Given the description of an element on the screen output the (x, y) to click on. 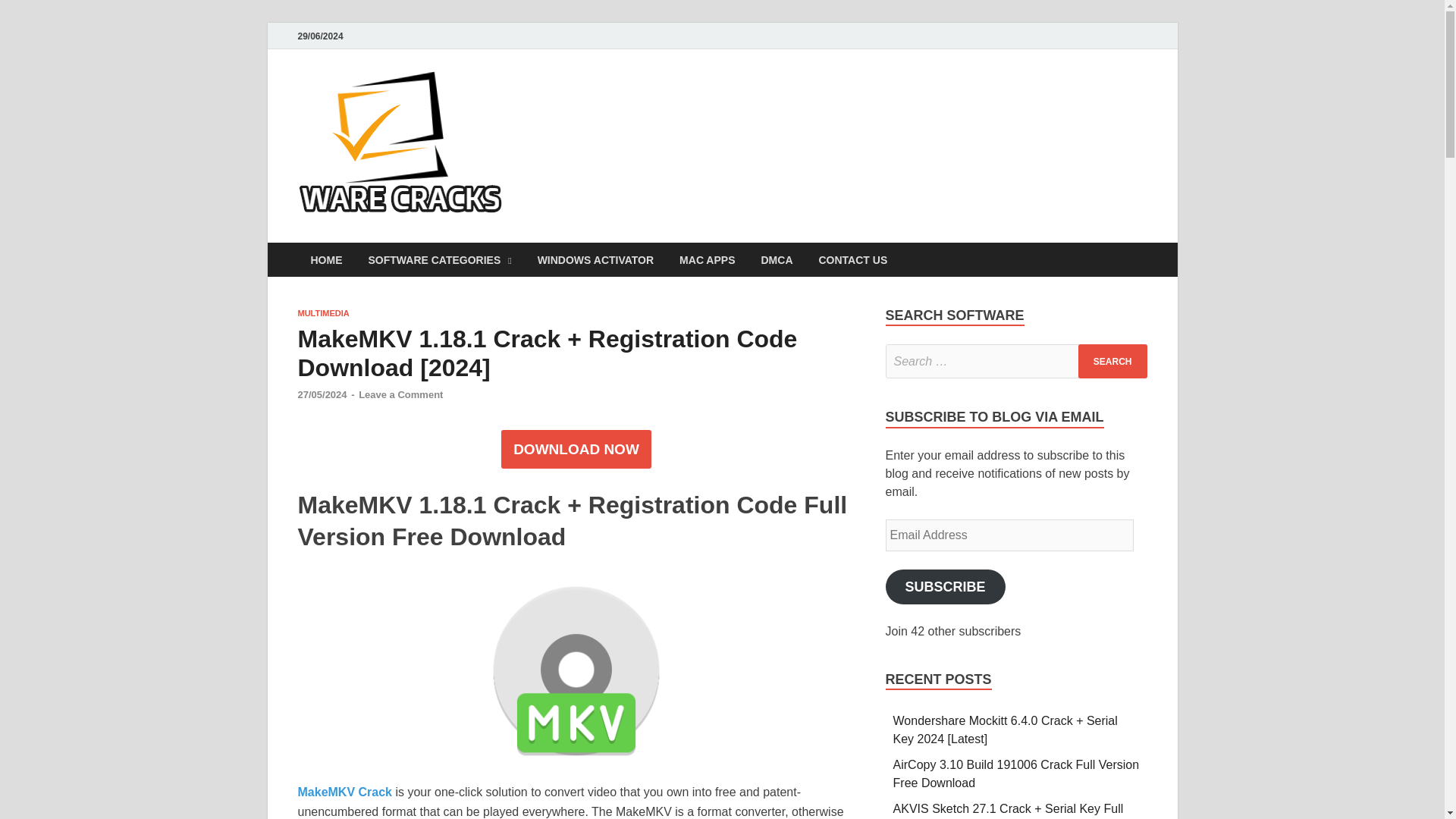
Leave a Comment (400, 394)
HOME (326, 259)
MULTIMEDIA (323, 312)
Search (1112, 360)
CONTACT US (852, 259)
SOFTWARE CATEGORIES (439, 259)
DOWNLOAD NOW (575, 449)
MAC APPS (707, 259)
Search (1112, 360)
Ware Cracks (595, 100)
